Given the description of an element on the screen output the (x, y) to click on. 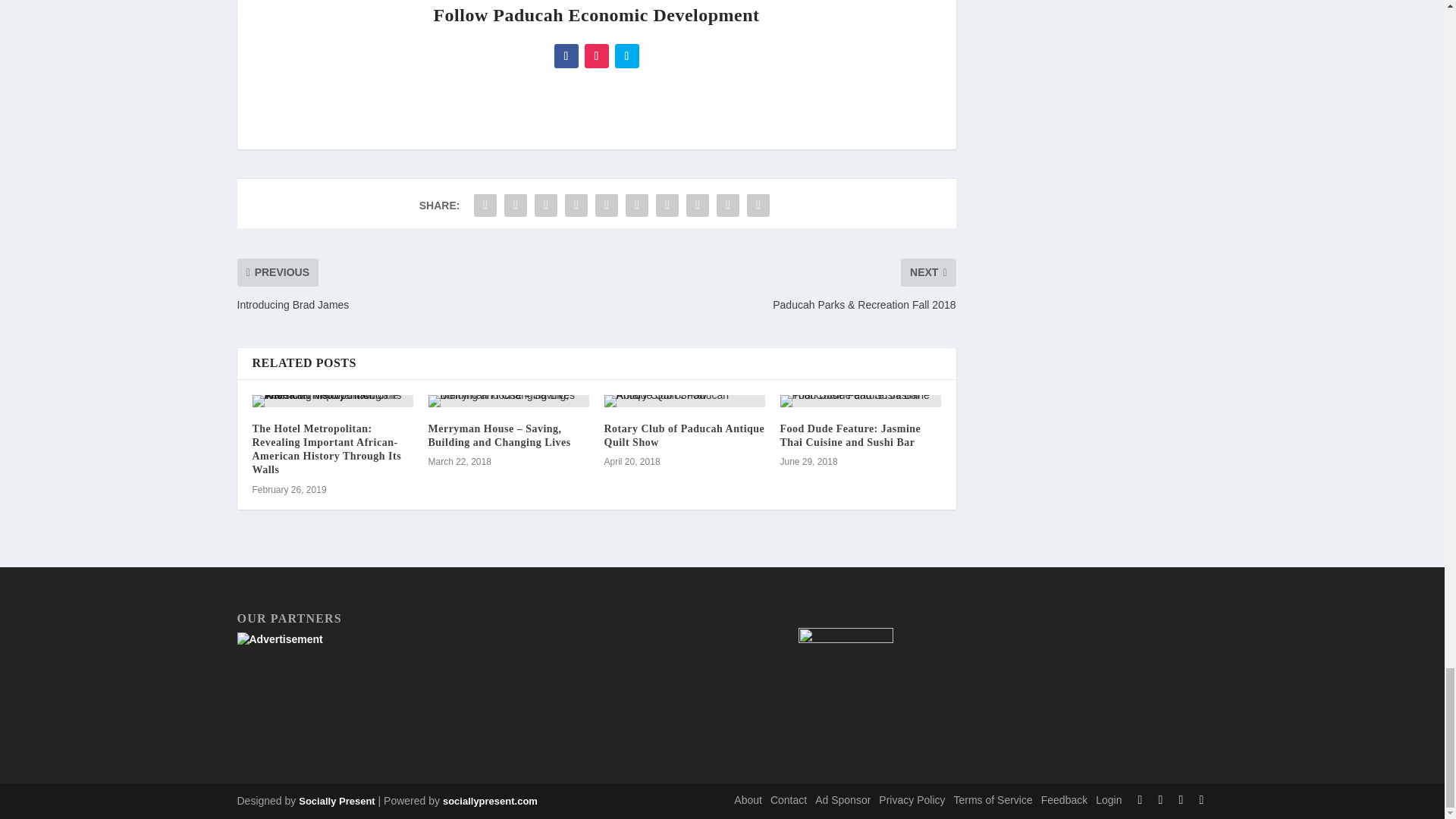
Follow on Instagram (595, 55)
Follow on Facebook (565, 55)
Follow on Twitter (626, 55)
